Given the description of an element on the screen output the (x, y) to click on. 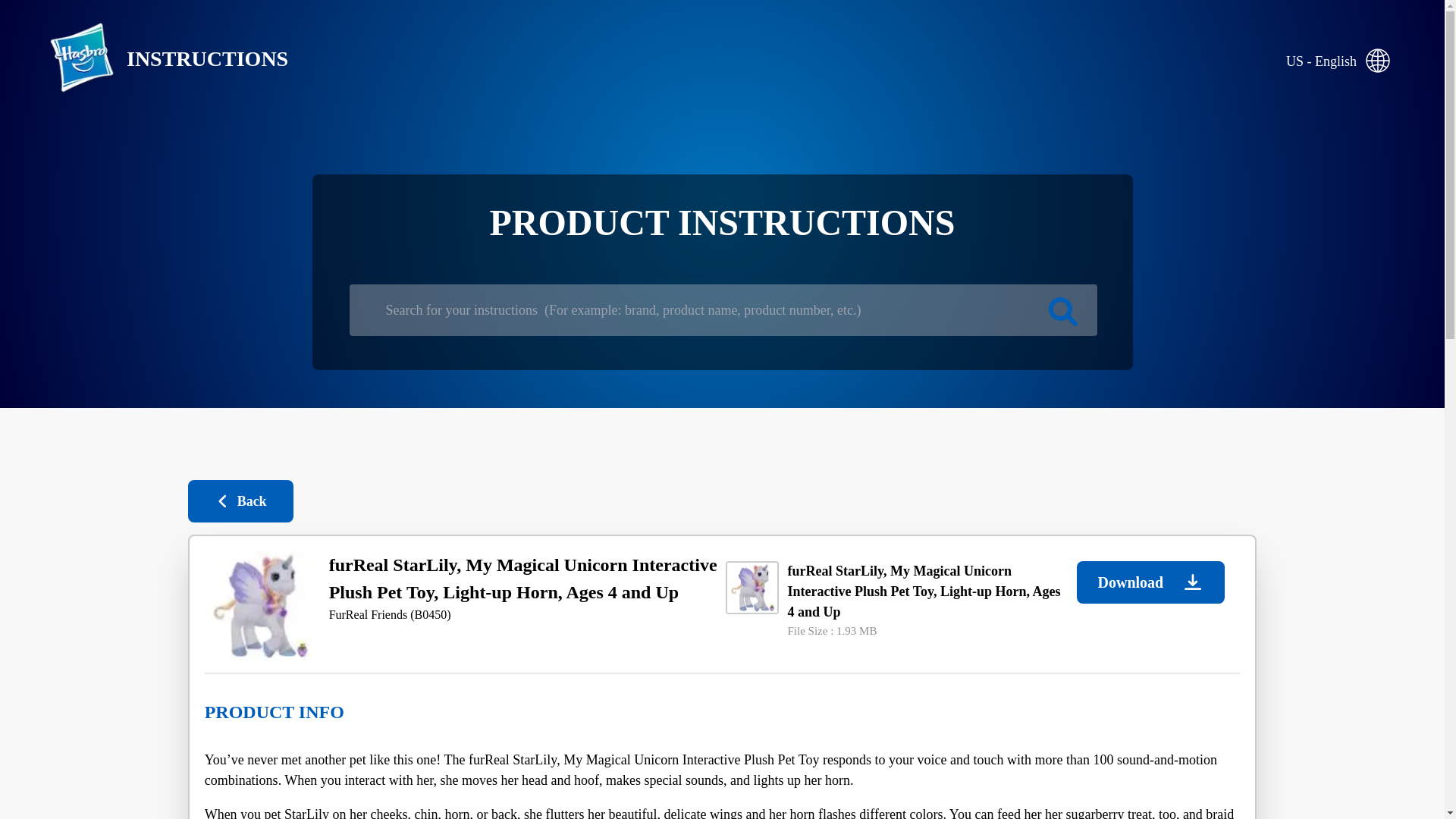
Download (1150, 582)
INSTRUCTIONS (156, 59)
Back (240, 500)
